Given the description of an element on the screen output the (x, y) to click on. 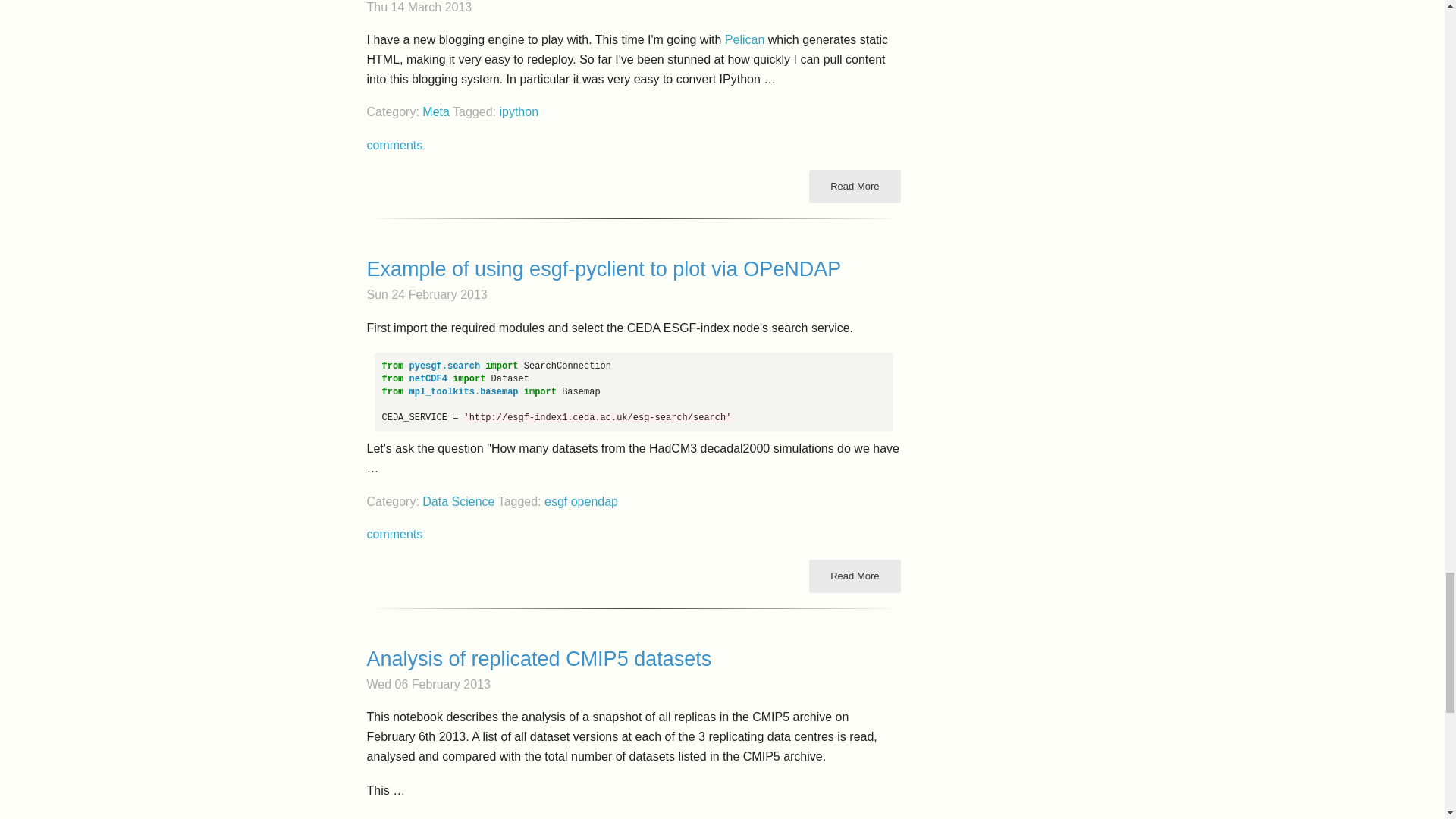
Pelican (744, 39)
ipython (518, 111)
Read More (854, 186)
Data Science (458, 501)
Example of using esgf-pyclient to plot via OPeNDAP (633, 269)
comments (394, 144)
Meta (435, 111)
